Given the description of an element on the screen output the (x, y) to click on. 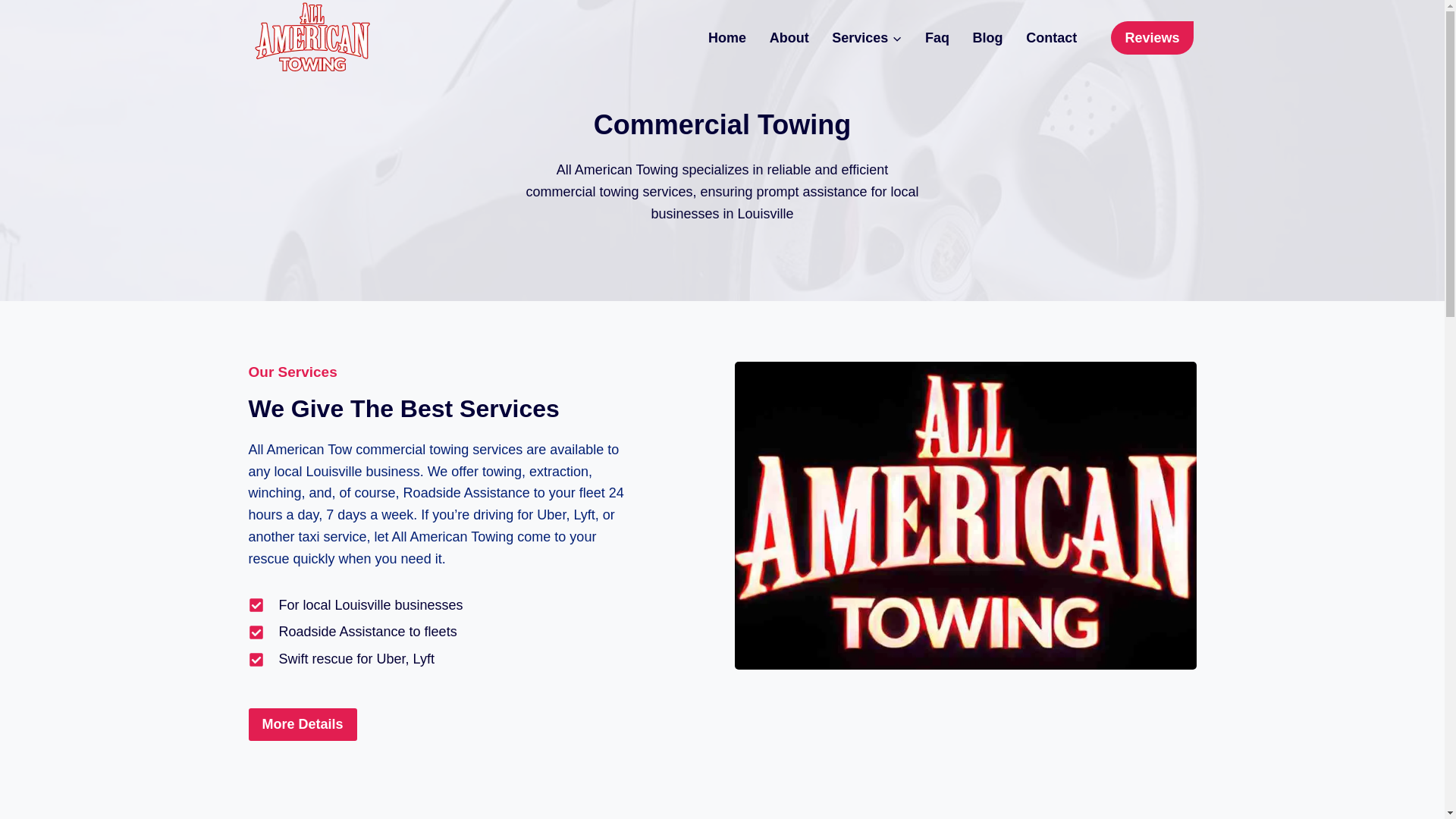
Services (867, 37)
Faq (937, 37)
Contact (1051, 37)
Reviews (1151, 37)
Home (727, 37)
More Details (302, 724)
About (789, 37)
Blog (987, 37)
